Given the description of an element on the screen output the (x, y) to click on. 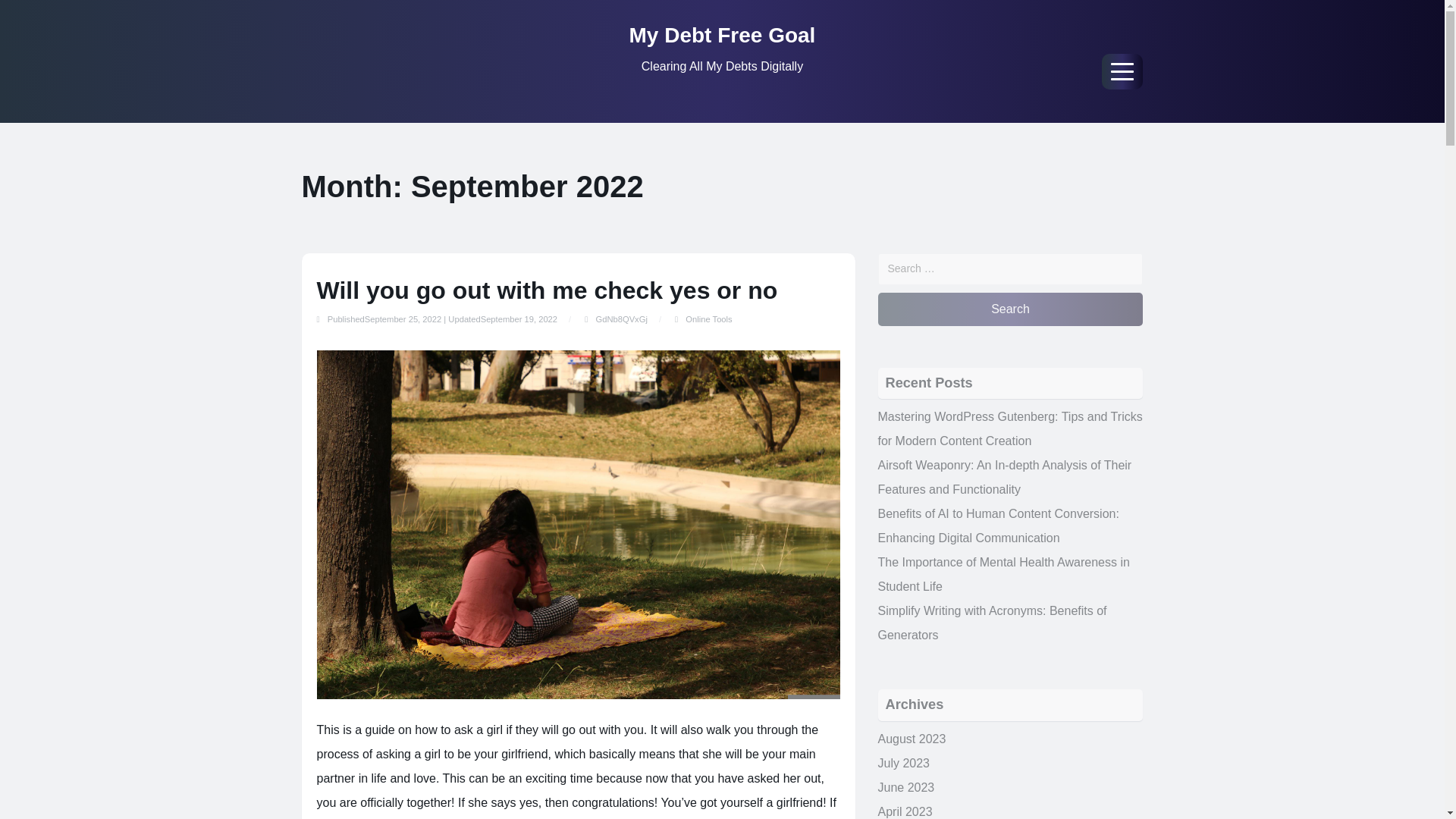
July 2023 (903, 762)
The Importance of Mental Health Awareness in Student Life (1003, 574)
Search (1009, 308)
June 2023 (905, 787)
April 2023 (905, 811)
My Debt Free Goal (721, 34)
Simplify Writing with Acronyms: Benefits of Generators (991, 622)
GdNb8QVxGj (620, 318)
